Given the description of an element on the screen output the (x, y) to click on. 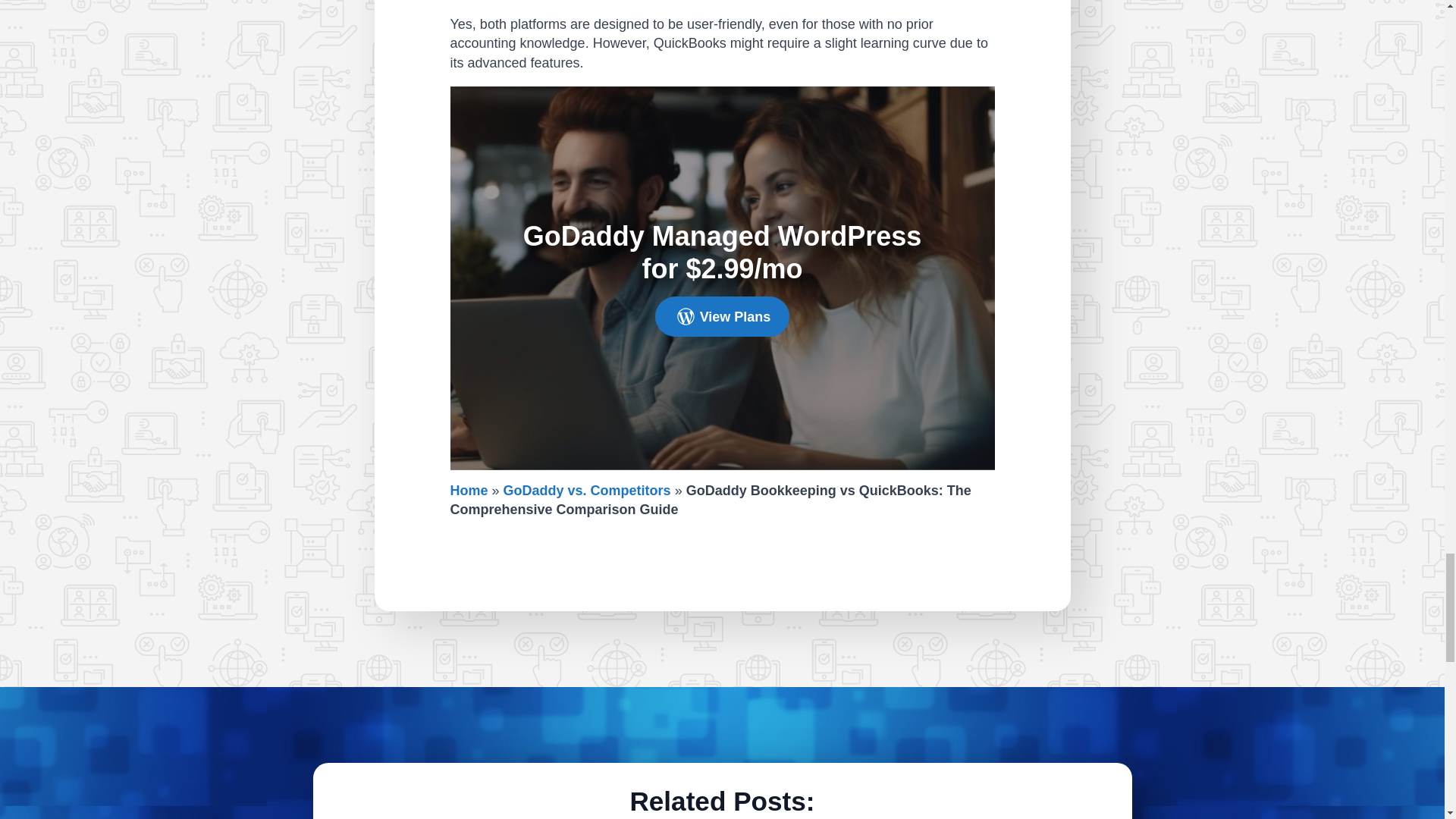
Home (468, 490)
View Plans (722, 316)
GoDaddy vs. Competitors (587, 490)
